Given the description of an element on the screen output the (x, y) to click on. 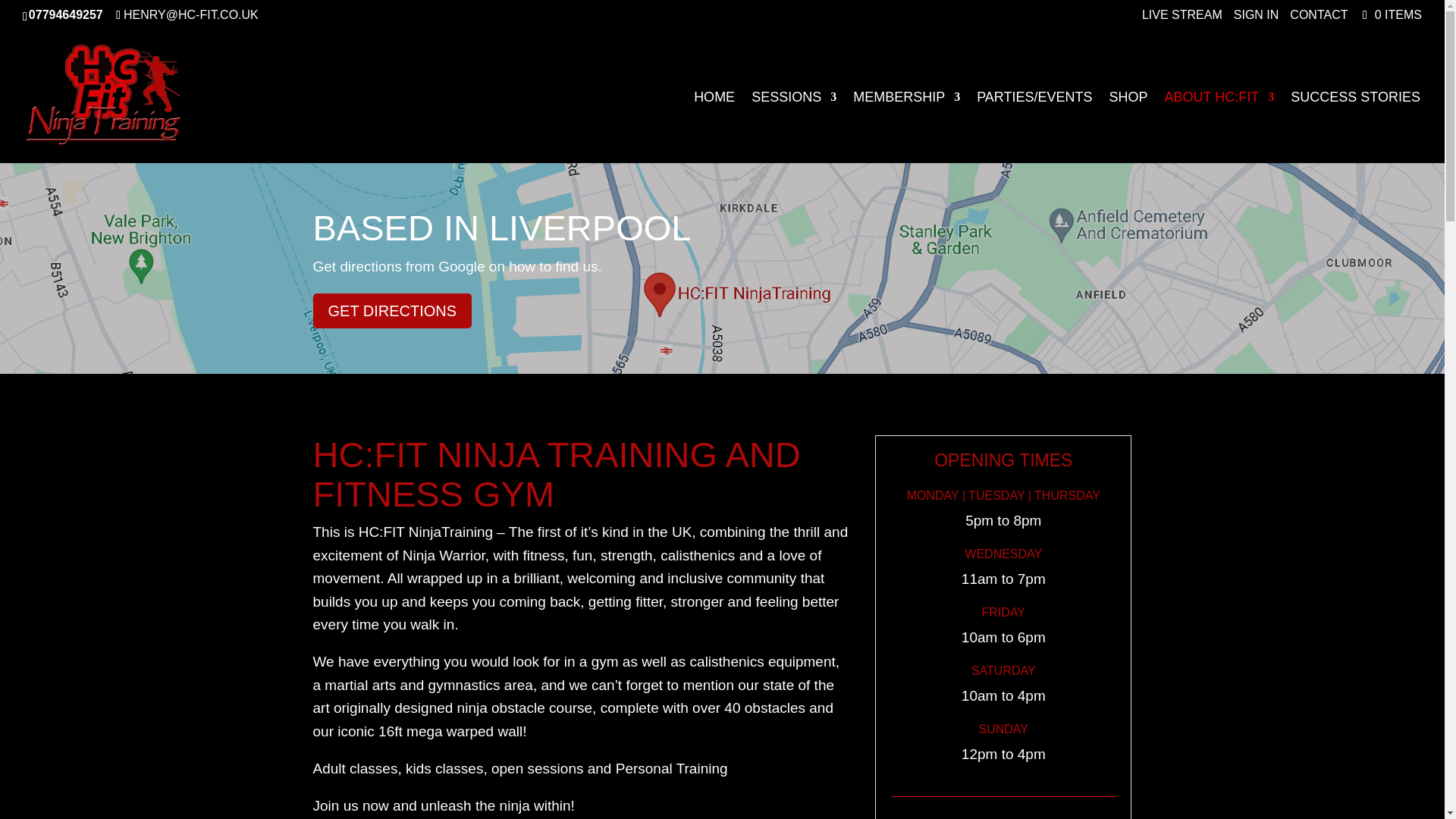
CONTACT (1319, 19)
LIVE STREAM (1182, 19)
0 ITEMS (1390, 14)
SESSIONS (793, 126)
ABOUT HC:FIT (1219, 126)
SIGN IN (1256, 19)
MEMBERSHIP (906, 126)
SUCCESS STORIES (1355, 126)
